Given the description of an element on the screen output the (x, y) to click on. 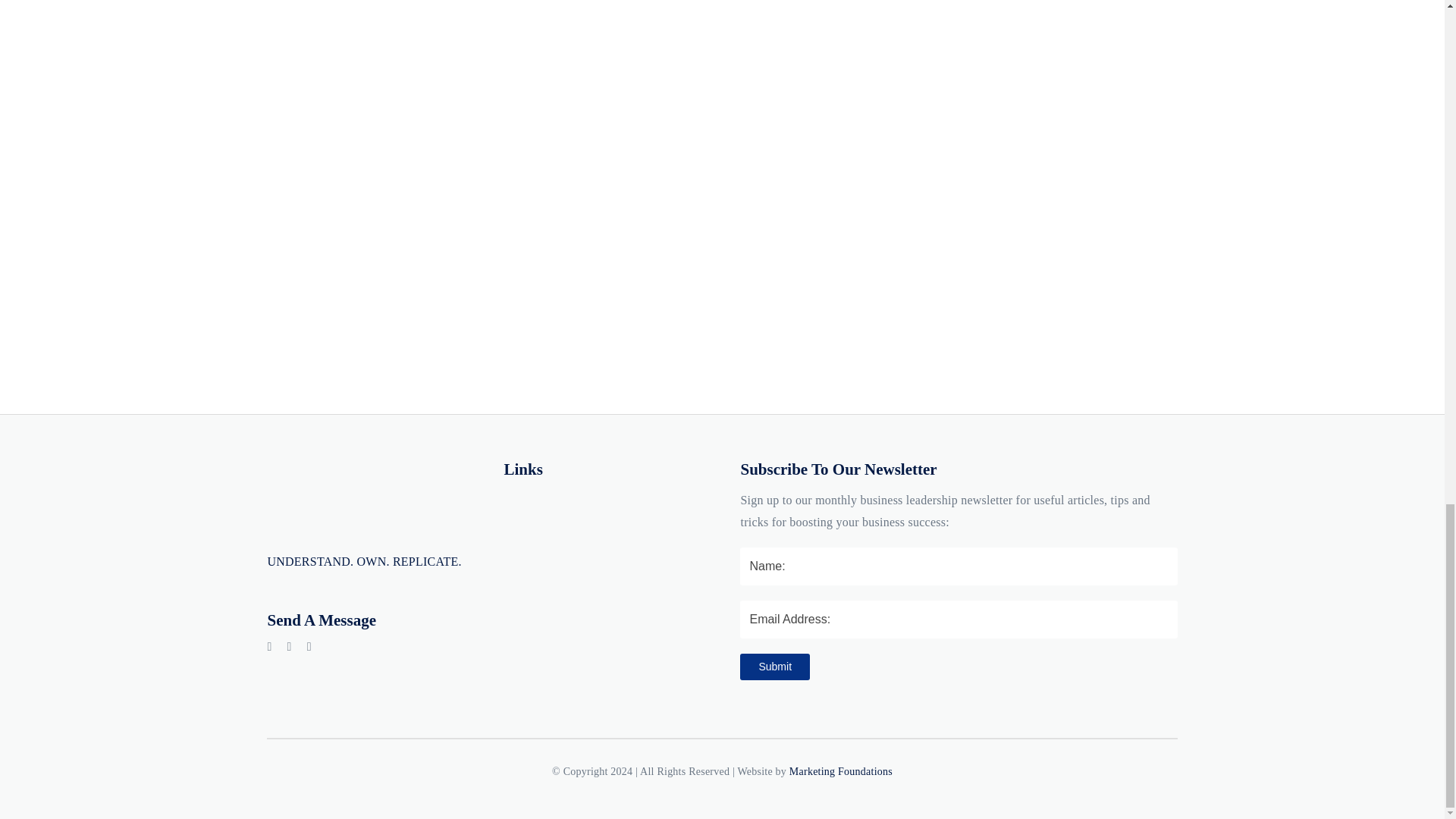
Submit (774, 666)
Marketing Foundations (840, 771)
Submit (774, 666)
Email Address: (957, 619)
Name: (957, 566)
